Given the description of an element on the screen output the (x, y) to click on. 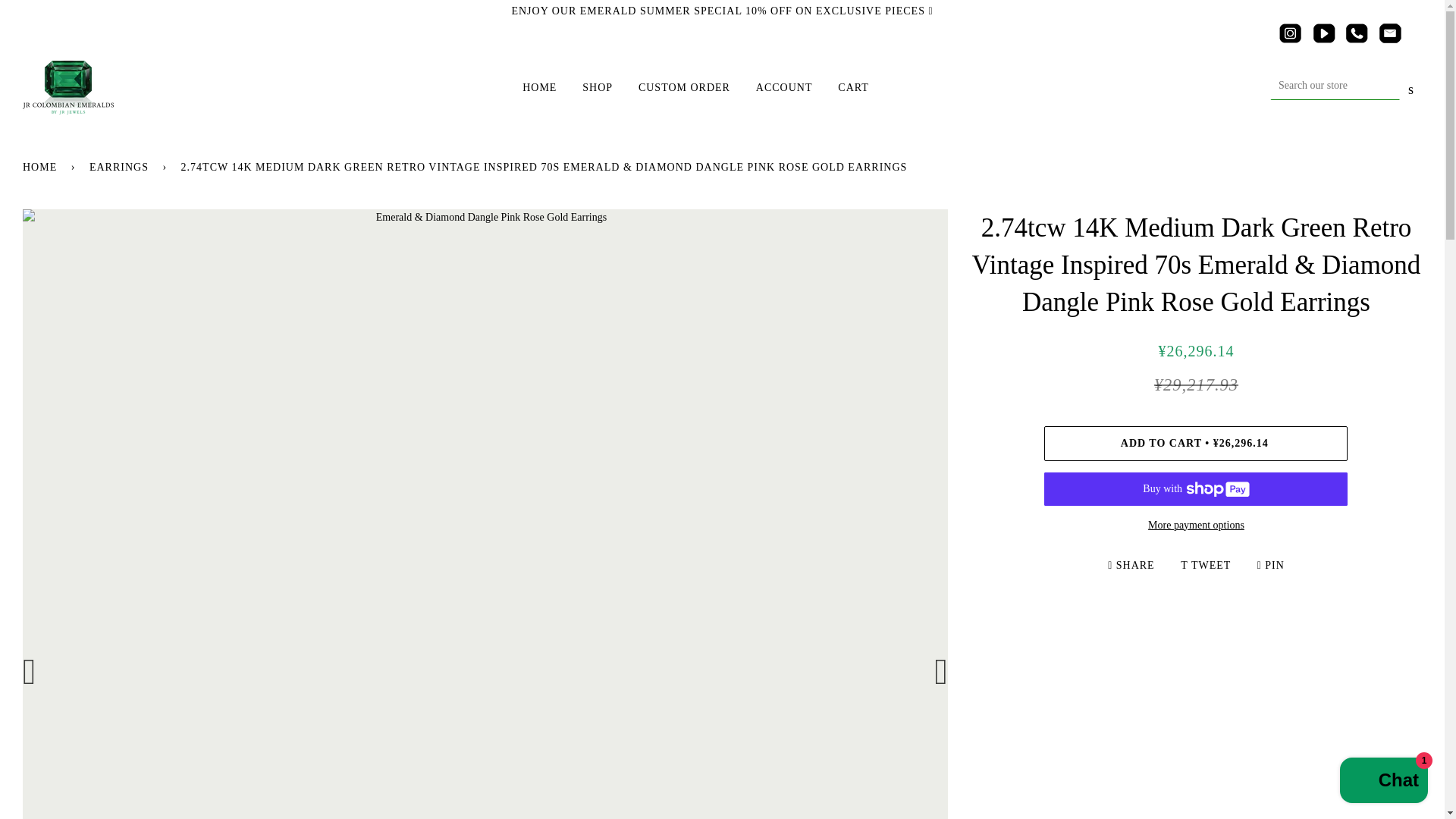
ACCOUNT (772, 87)
Shopify online store chat (1383, 781)
CUSTOM ORDER (672, 87)
Back to the frontpage (42, 167)
Mail us (1389, 39)
Follow us on Instagram (1290, 39)
Follow us on YouTube (1323, 39)
Call us (1355, 39)
SHOP (585, 87)
CART (842, 87)
